Given the description of an element on the screen output the (x, y) to click on. 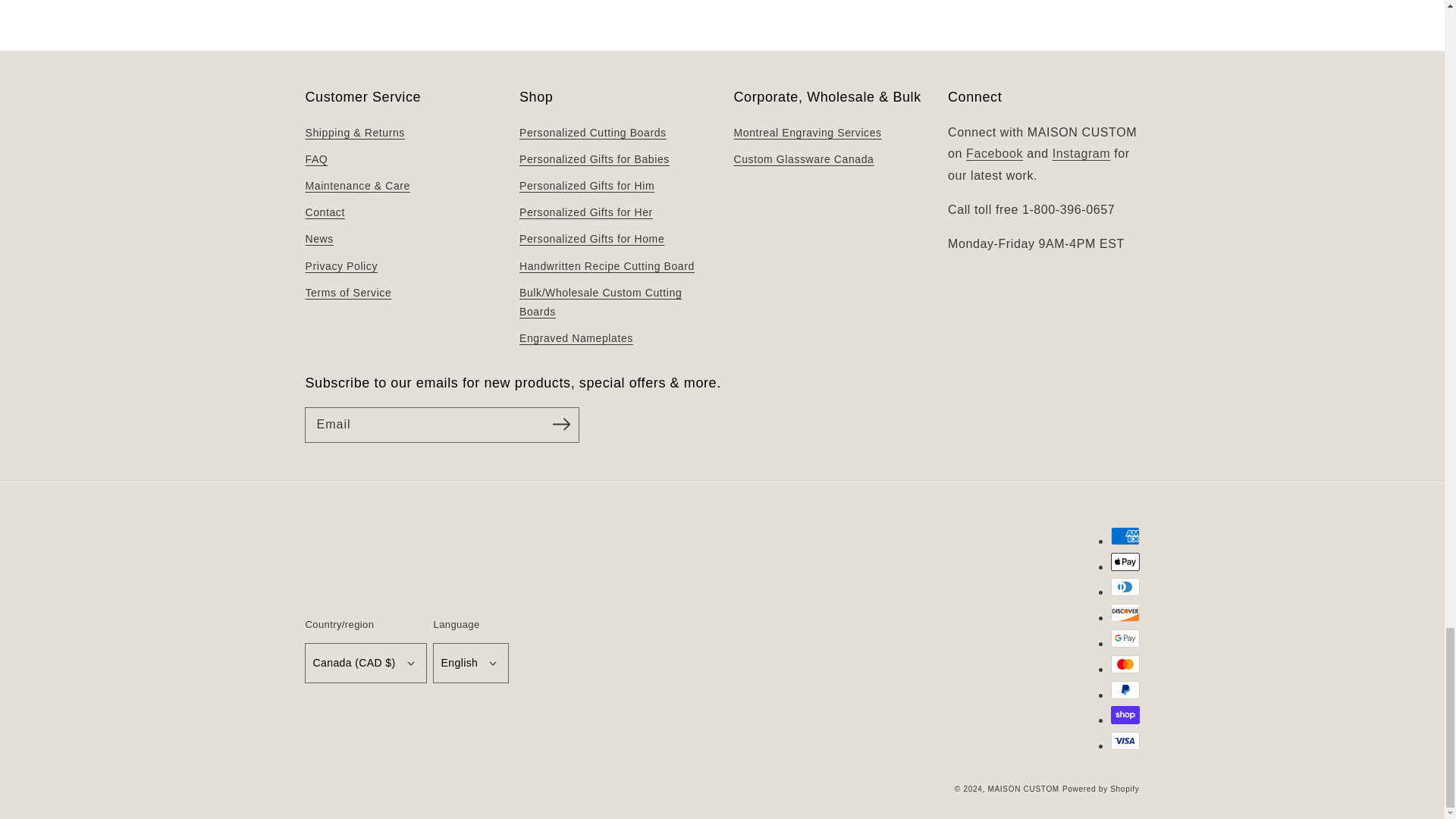
American Express (1123, 536)
Discover (1123, 612)
Apple Pay (1123, 561)
Diners Club (1123, 587)
